Given the description of an element on the screen output the (x, y) to click on. 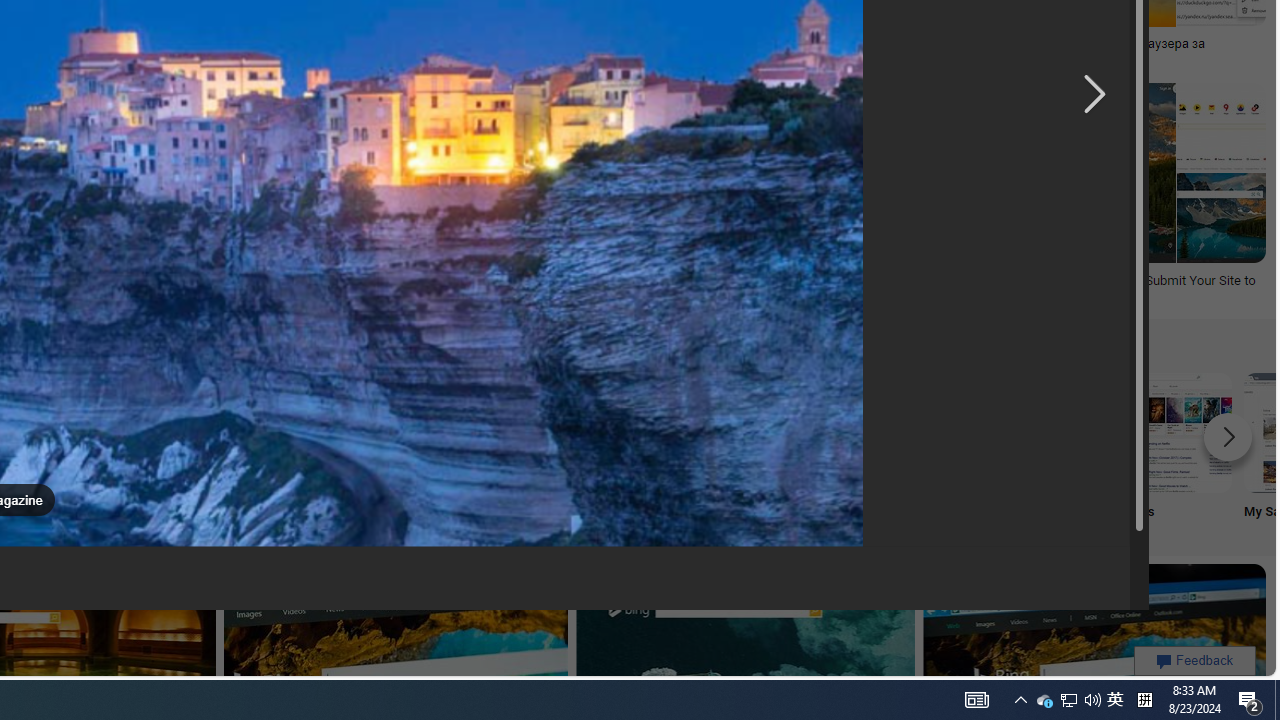
Image result for Bing Search Site (717, 172)
Bing Search Bar Install (380, 432)
Web Searching | Computer Applications for ManagersSave (220, 196)
Bing Search Settings Settings (907, 450)
Bing Movies Search (1171, 432)
Bing Random Search Random (116, 450)
Bing Search App (511, 432)
Bing Can Now Search for Any Object in an Image (689, 44)
Bing Search App App (511, 450)
